Given the description of an element on the screen output the (x, y) to click on. 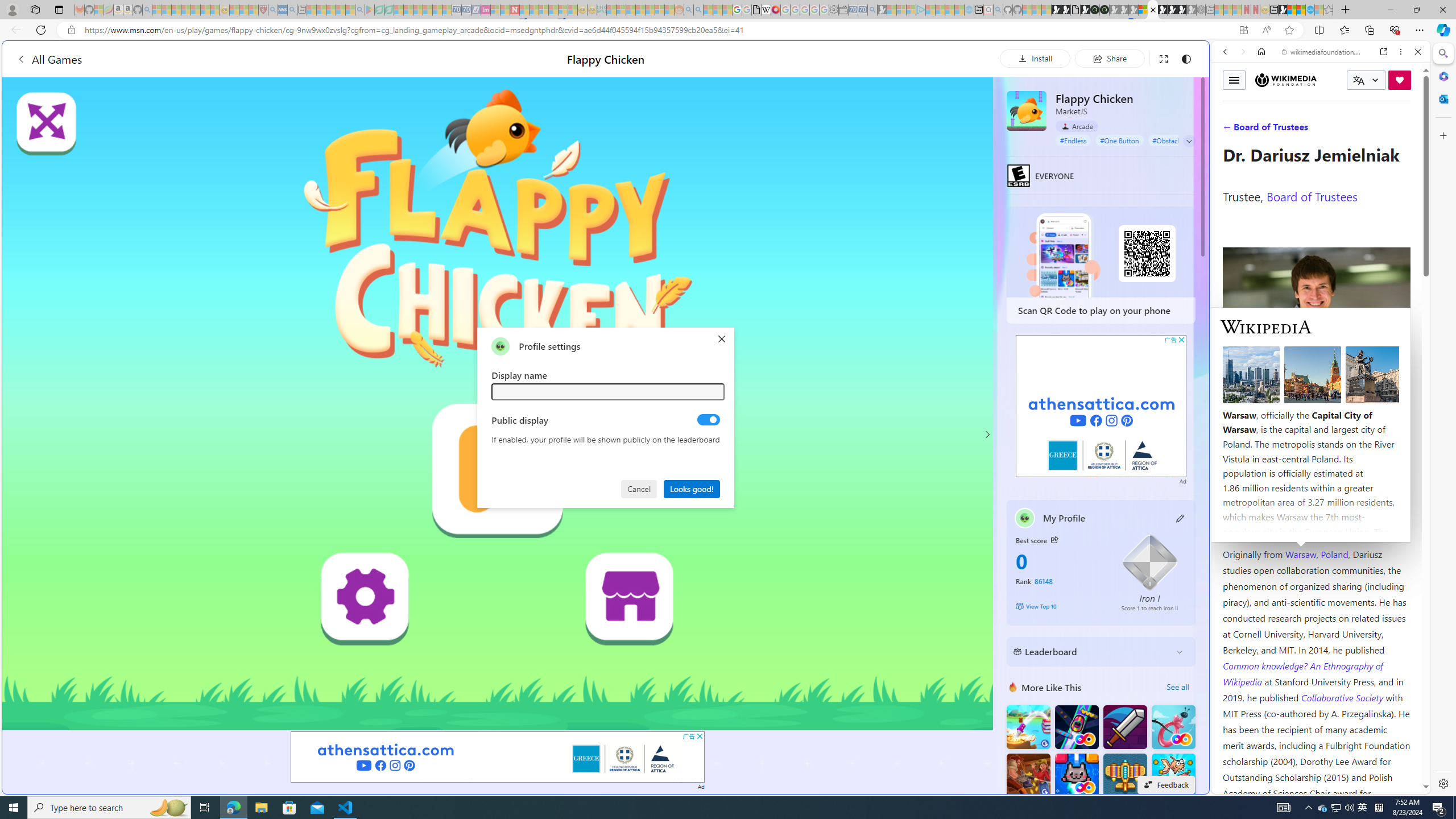
All Games (49, 58)
Cancel (639, 488)
Common knowledge? An Ethnography of Wikipedia (1302, 672)
Install (1034, 58)
